Given the description of an element on the screen output the (x, y) to click on. 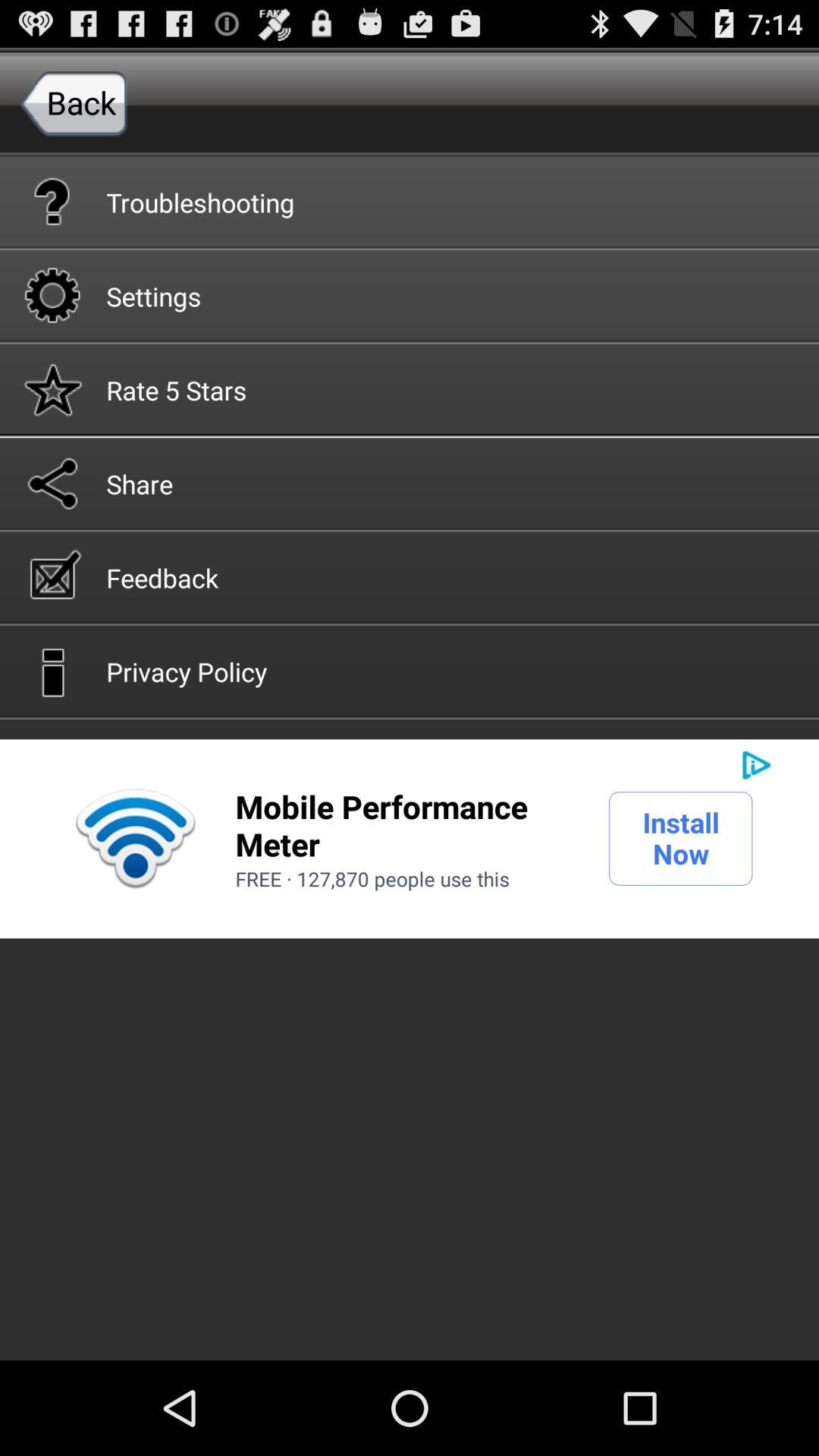
turn on the icon next to mobile performance meter icon (680, 838)
